Given the description of an element on the screen output the (x, y) to click on. 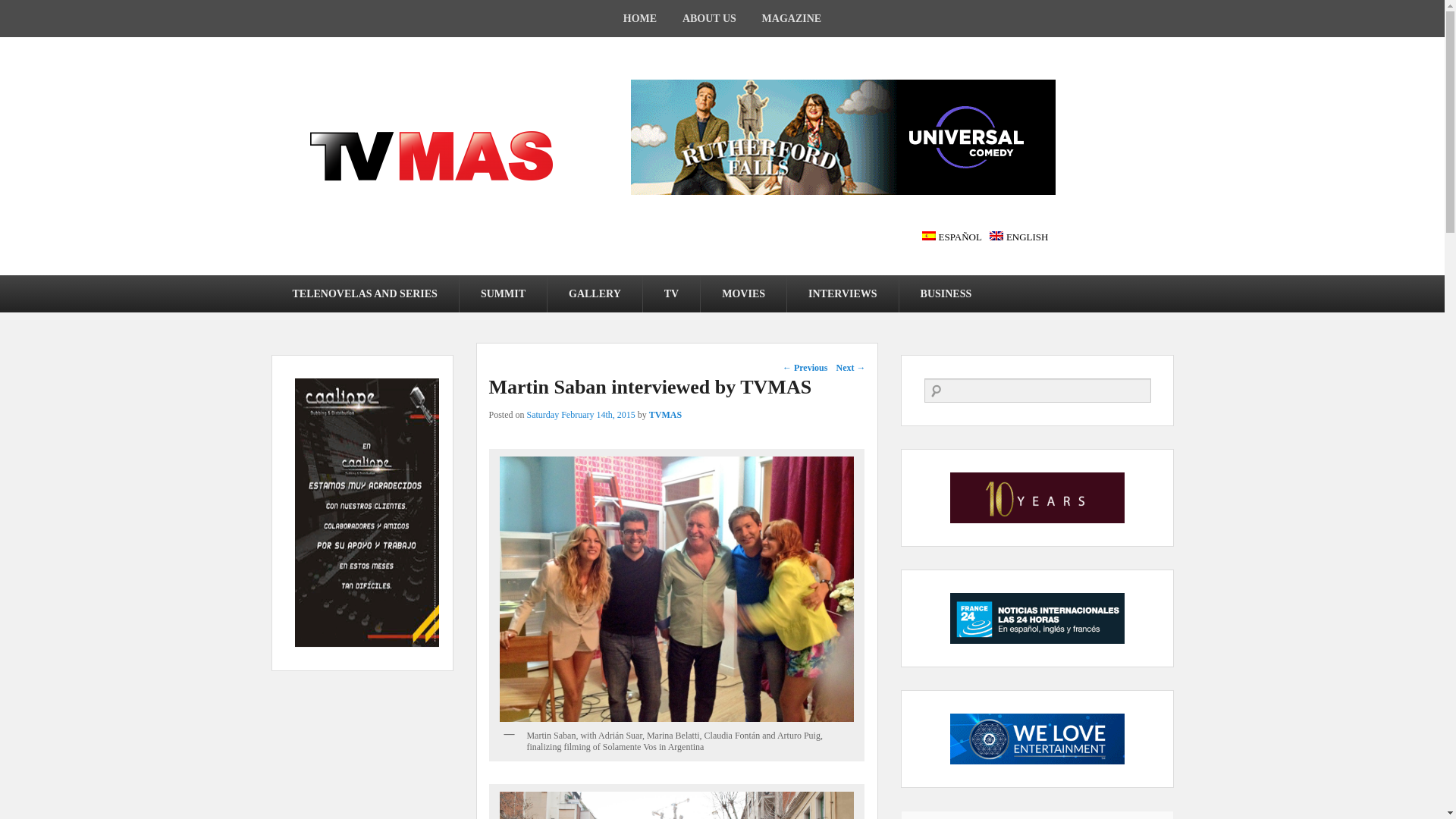
View all posts by TVMAS (665, 414)
ENGLISH (1019, 236)
TVMAS Magazine (431, 155)
TELENOVELAS AND SERIES (364, 293)
Skip to primary content (58, 284)
04:11 PM (580, 414)
HOME (639, 18)
ABOUT US (709, 18)
MAGAZINE (791, 18)
SUMMIT (503, 293)
Skip to primary content (58, 284)
INICIO (639, 18)
GALLERY (594, 293)
TV (671, 293)
Skip to secondary content (62, 284)
